Given the description of an element on the screen output the (x, y) to click on. 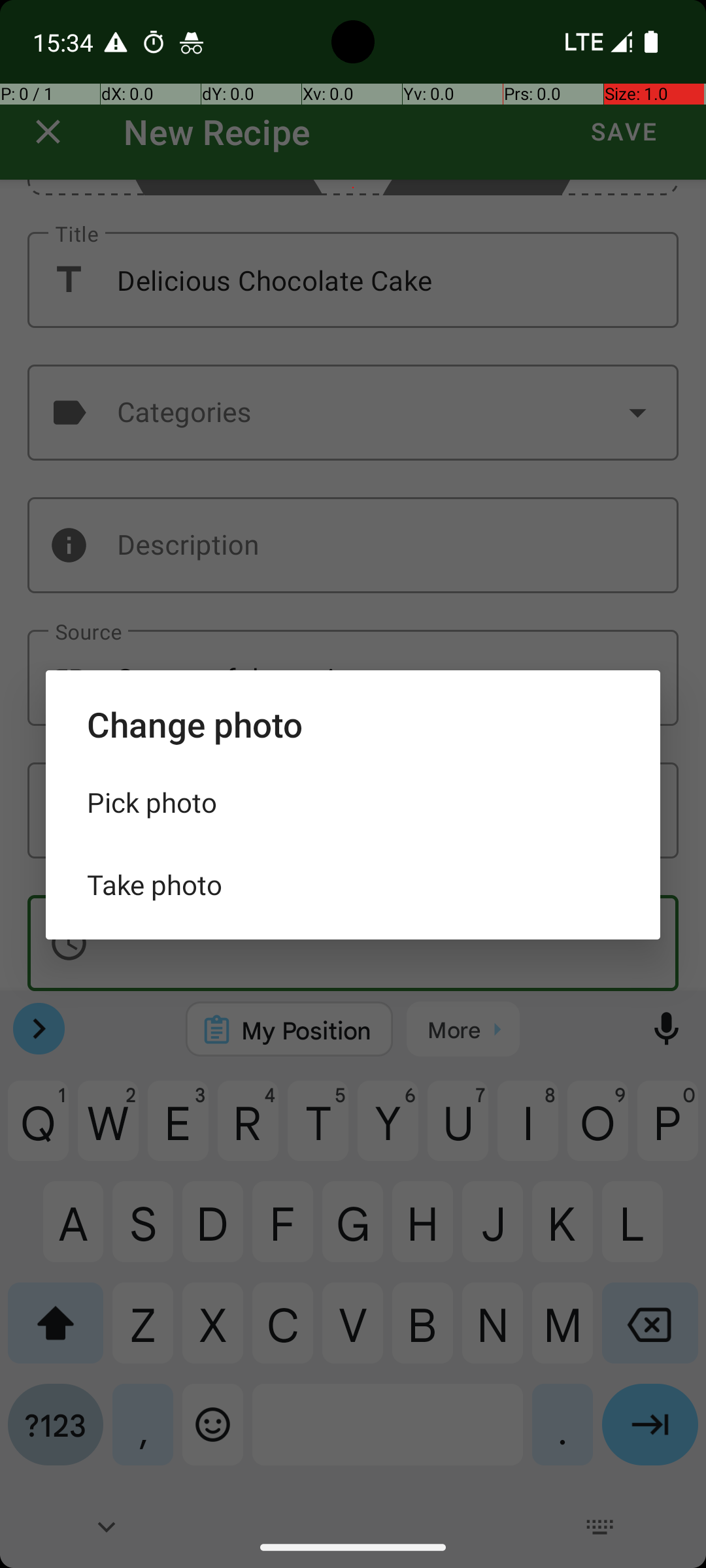
Pick photo Element type: android.widget.TextView (352, 802)
Take photo Element type: android.widget.TextView (352, 884)
